Given the description of an element on the screen output the (x, y) to click on. 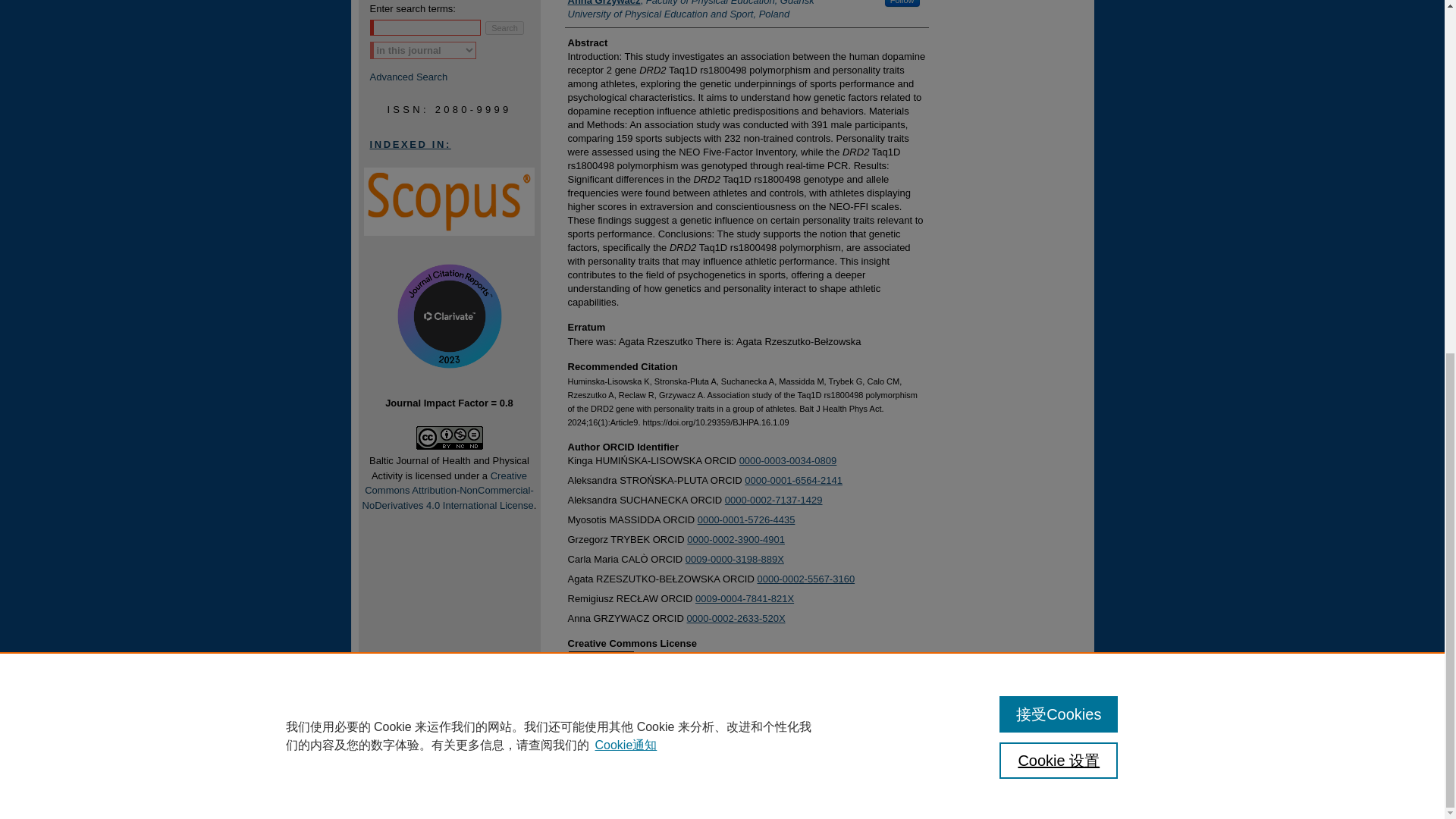
0000-0002-7137-1429 (773, 500)
0000-0001-6564-2141 (793, 480)
Search (504, 28)
Search (504, 28)
0000-0003-0034-0809 (788, 460)
Follow (902, 3)
